Given the description of an element on the screen output the (x, y) to click on. 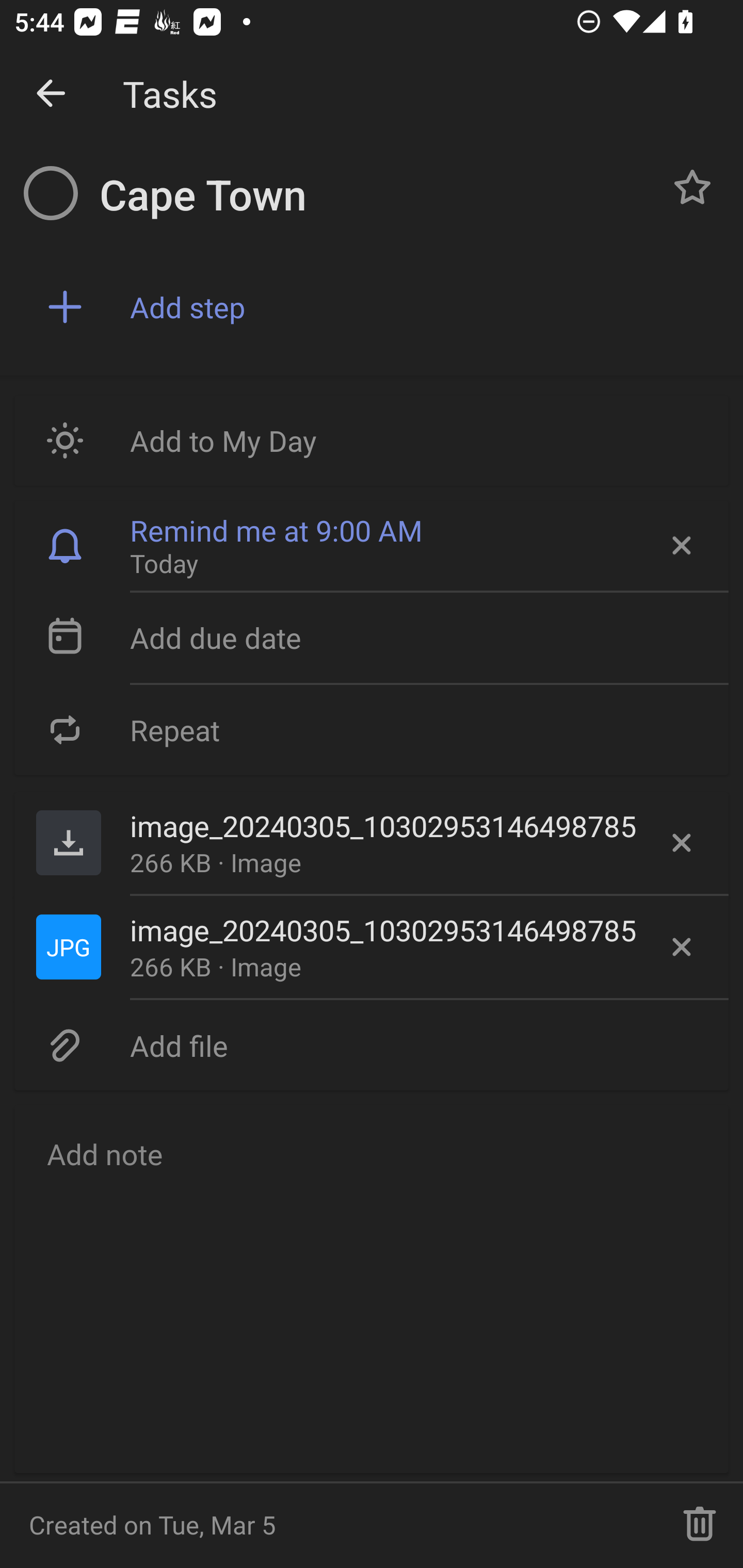
Dismiss detail view (50, 93)
Incomplete task Cape Town, Button (50, 192)
Cape Town (374, 195)
Normal task Cape Town, Button (692, 187)
Add step (422, 307)
Add to My Day (371, 440)
Remind me at 9:00 AM Today Remove reminder (371, 545)
Remove reminder (679, 545)
Add due date (371, 637)
Repeat (371, 729)
Delete file (681, 842)
Delete file (681, 947)
Add file (371, 1044)
Add note, Button Email Renderer Add note (371, 1288)
Delete task (699, 1524)
